Given the description of an element on the screen output the (x, y) to click on. 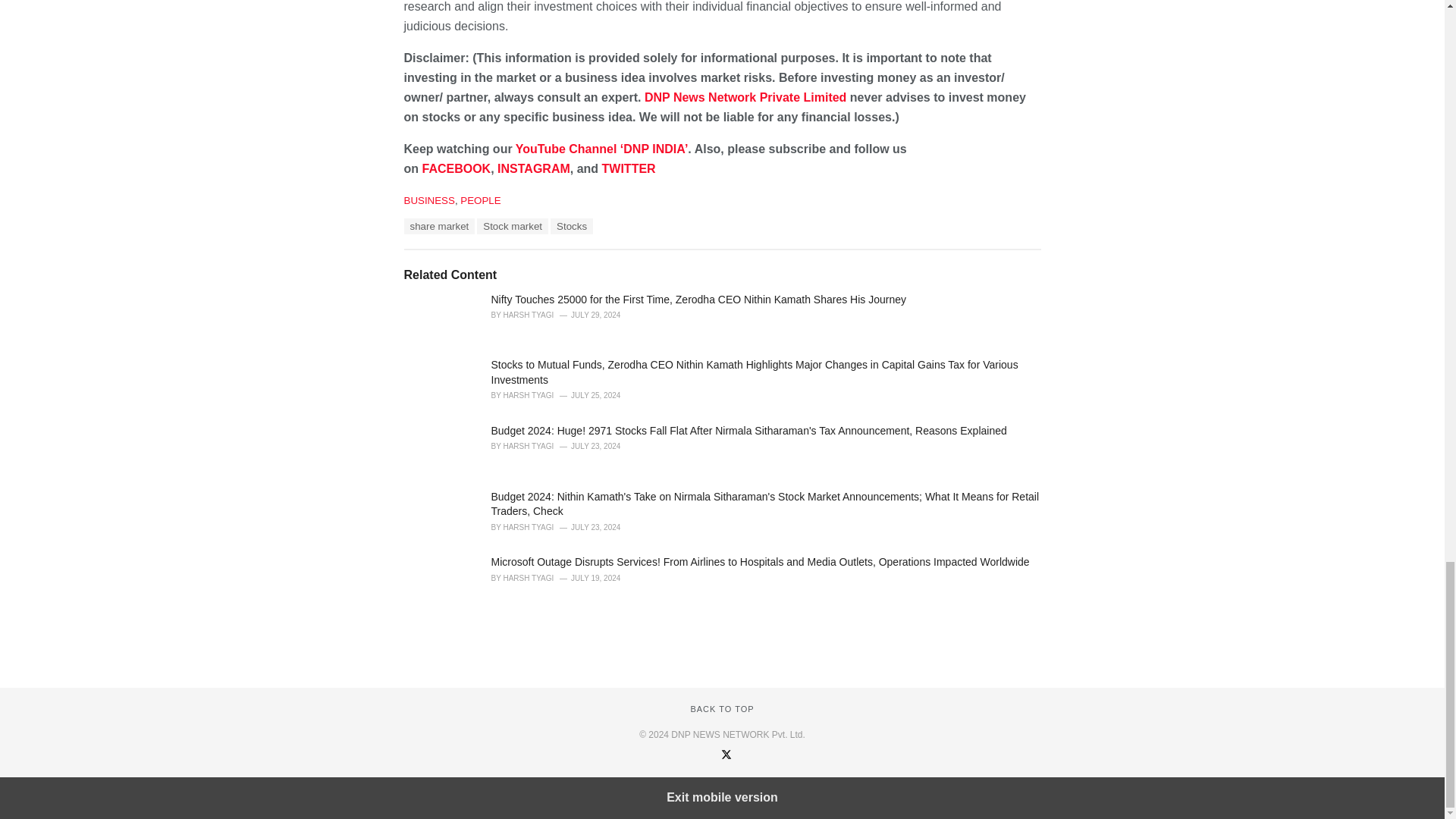
DNP News Network Private Limited (745, 138)
BUSINESS (428, 242)
share market (438, 268)
FACEBOOK (456, 210)
BACK TO TOP (722, 750)
Stock market (512, 268)
enticing investment prospect (497, 28)
TWITTER (629, 210)
Stocks (571, 268)
PEOPLE (480, 242)
